Given the description of an element on the screen output the (x, y) to click on. 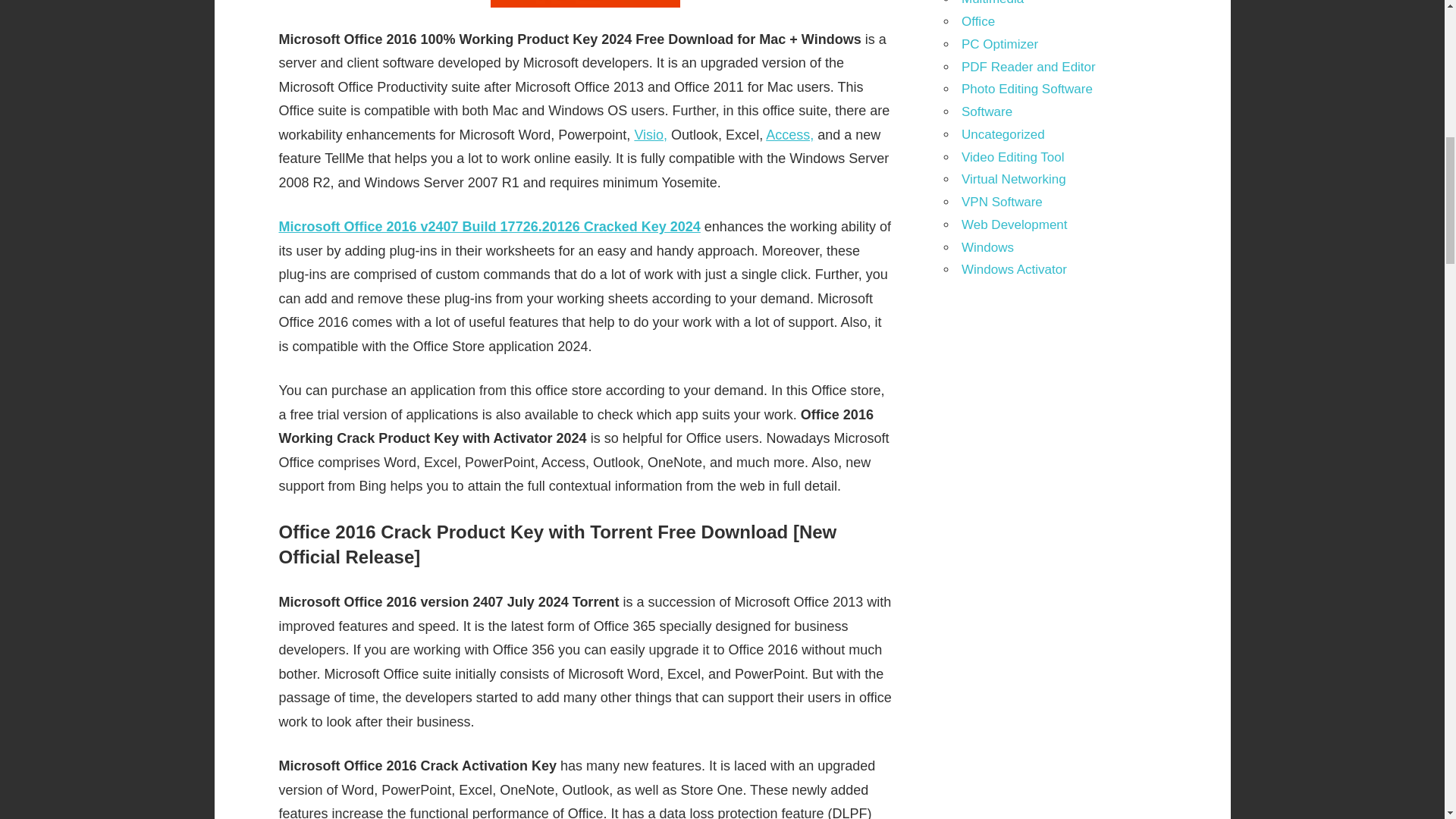
Access, (789, 134)
Microsoft Office 2016 v2407 Build 17726.20126 (429, 226)
Cracked Key 2024 (639, 226)
Visio, (649, 134)
